Given the description of an element on the screen output the (x, y) to click on. 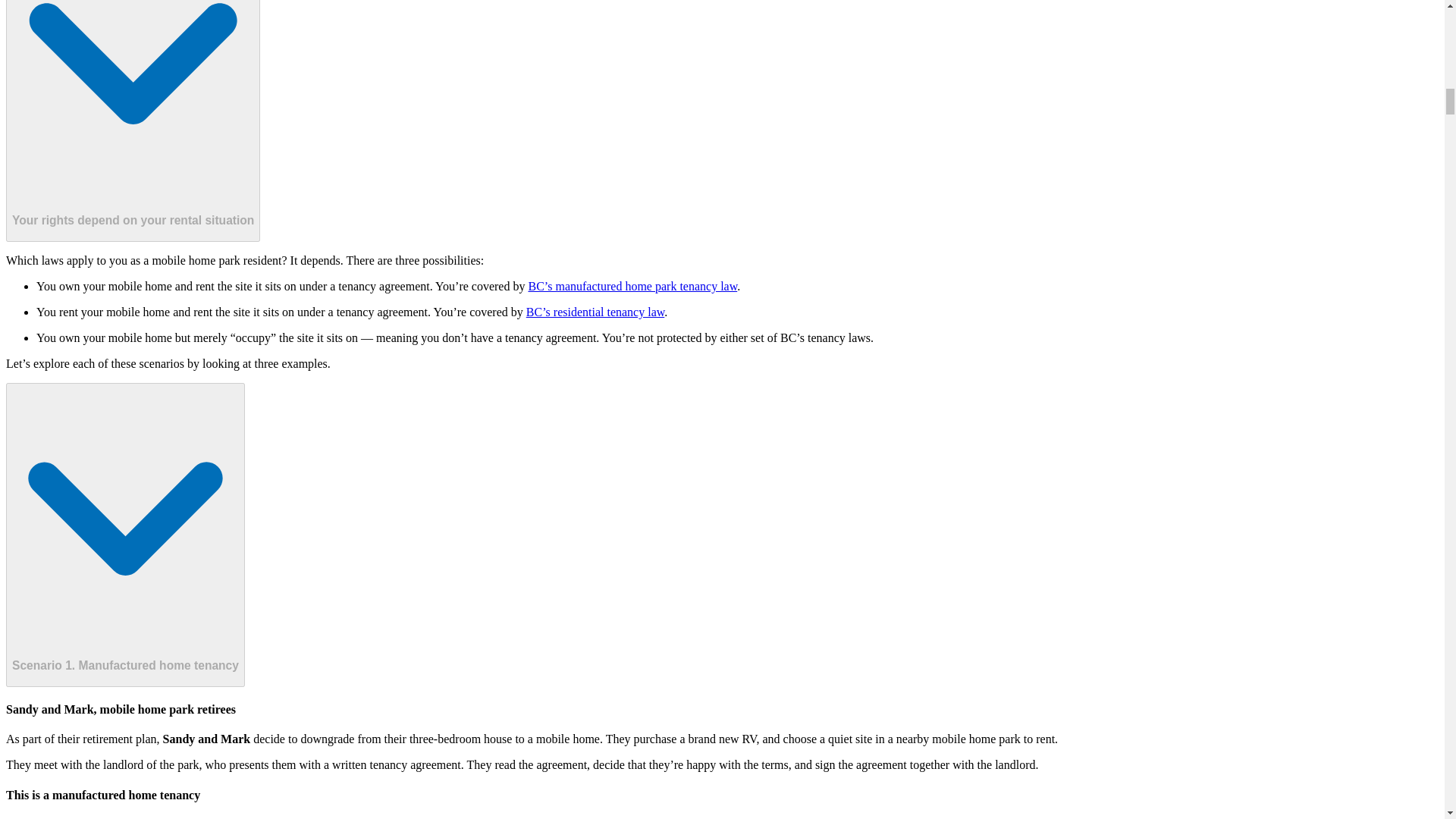
Your rights depend on your rental situation (132, 120)
Scenario 1. Manufactured home tenancy (124, 535)
